Given the description of an element on the screen output the (x, y) to click on. 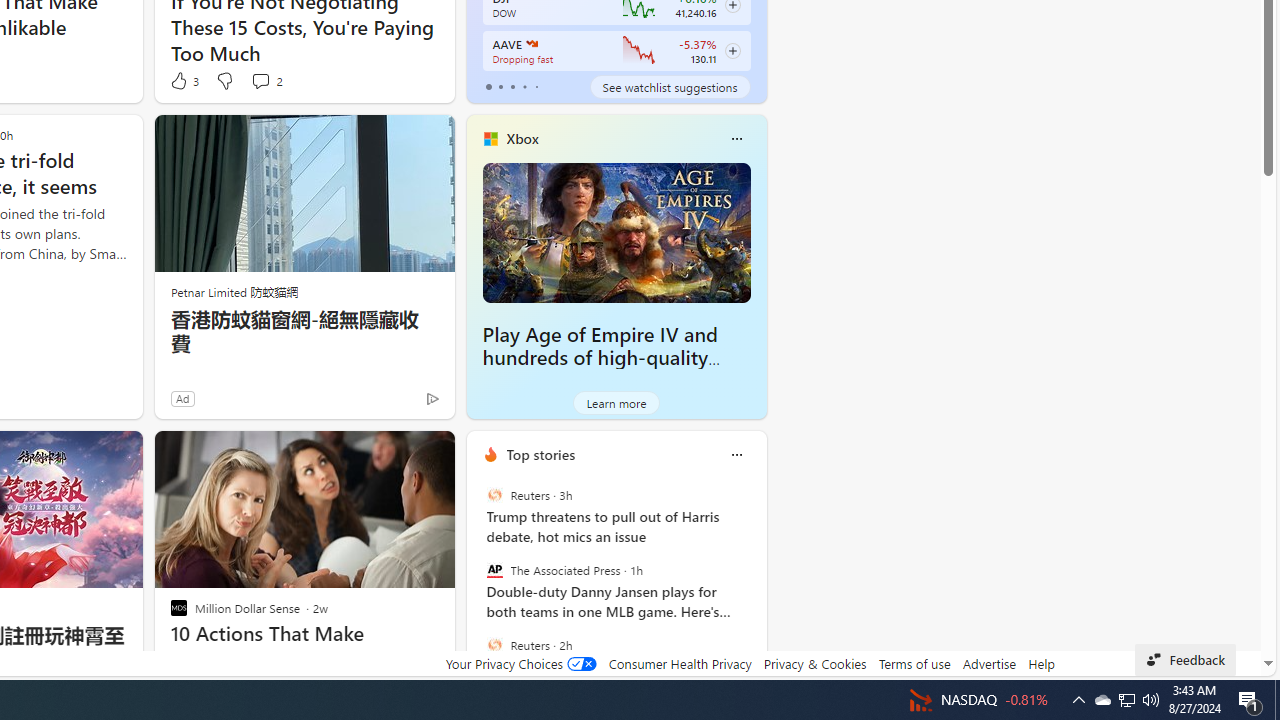
Class: follow-button  m (732, 51)
next (756, 583)
Top stories (540, 454)
Your Privacy Choices (520, 663)
tab-2 (511, 86)
previous (476, 583)
Reuters (494, 644)
Learn more (616, 402)
Hide this story (393, 454)
